Given the description of an element on the screen output the (x, y) to click on. 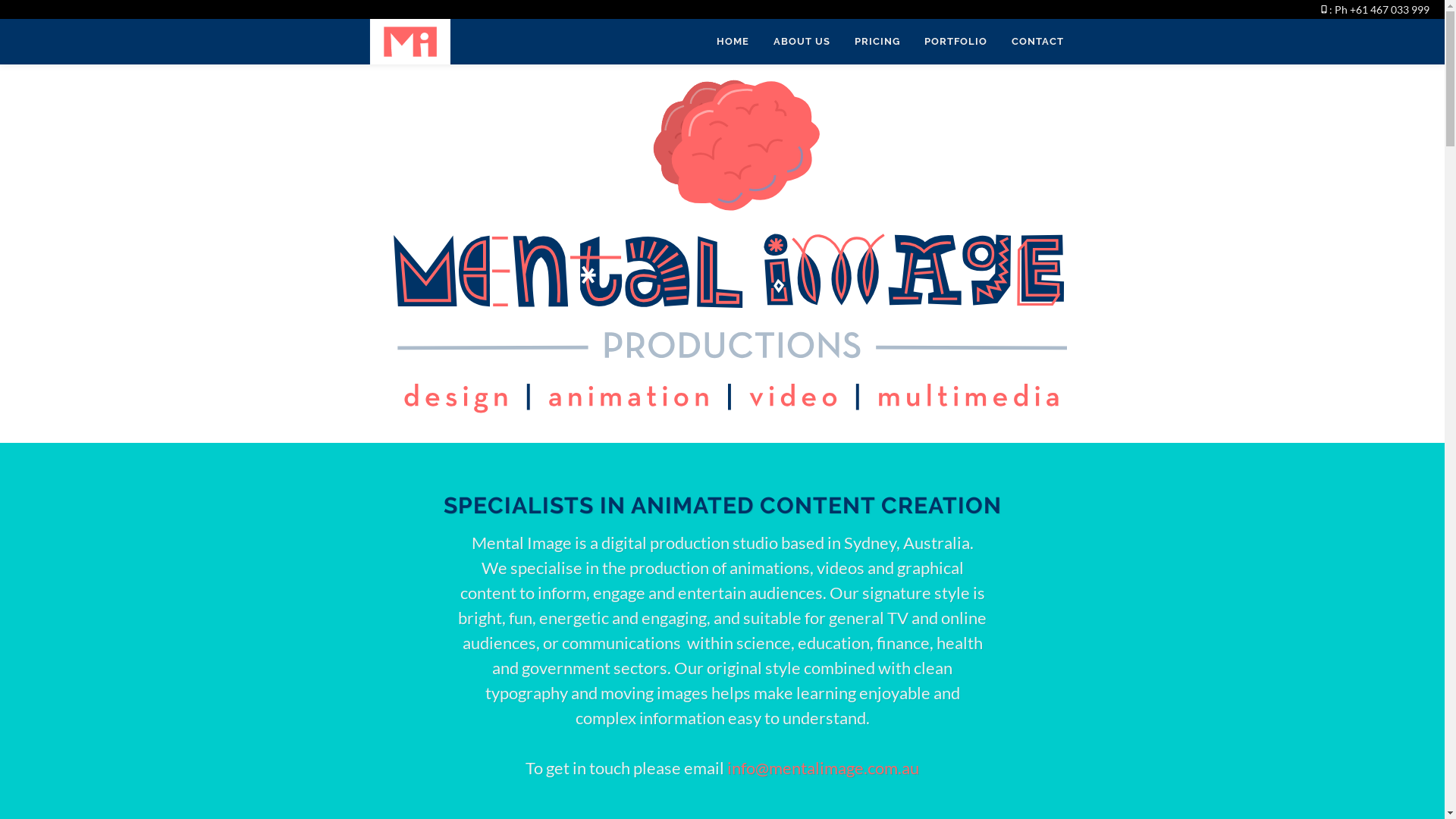
info@mentalimage.com.au Element type: text (823, 767)
PRICING Element type: text (877, 41)
ABOUT US Element type: text (800, 41)
CONTACT Element type: text (1036, 41)
PORTFOLIO Element type: text (955, 41)
HOME Element type: text (732, 41)
